Given the description of an element on the screen output the (x, y) to click on. 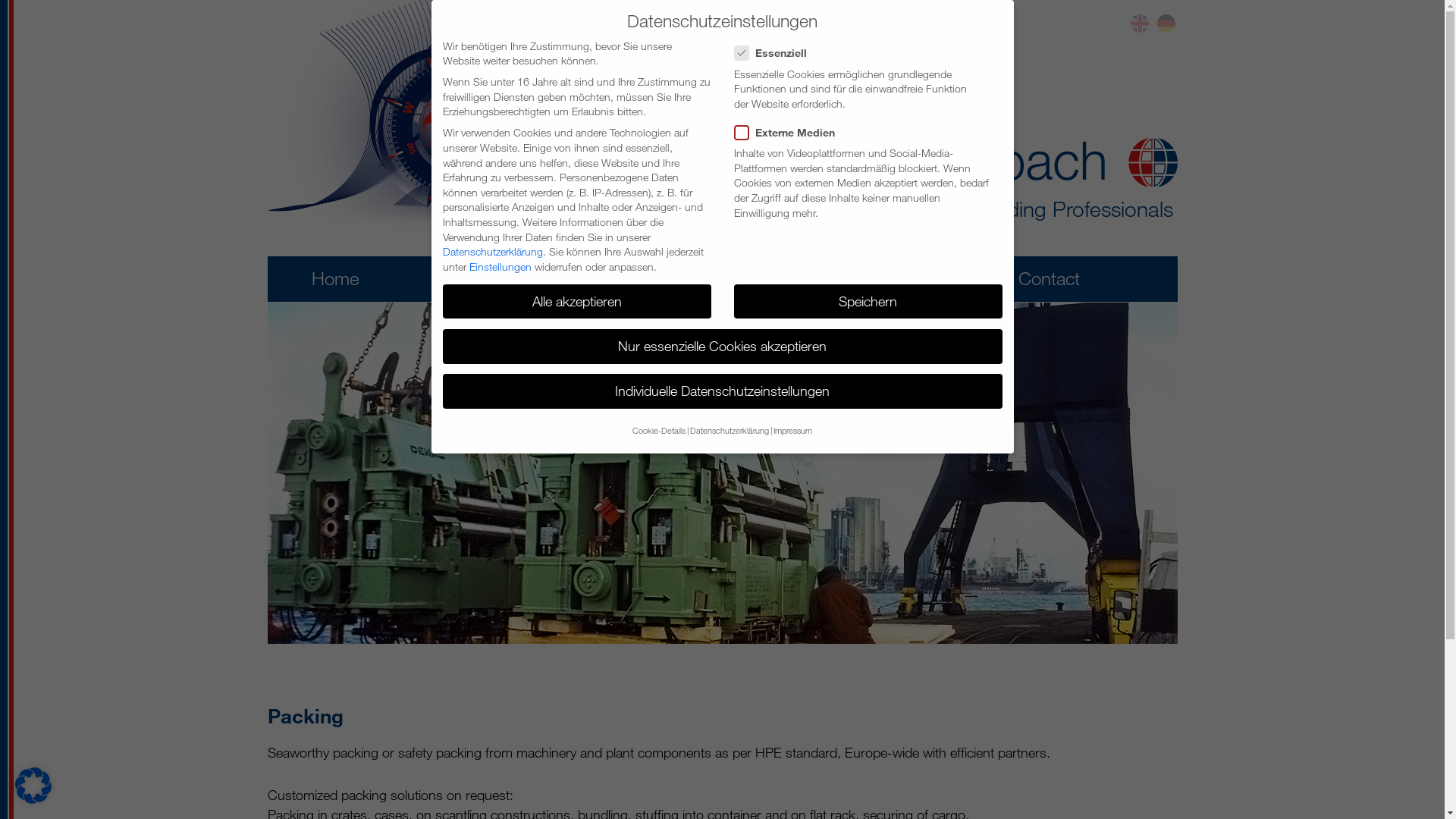
Contact Element type: text (1047, 277)
Impressum Element type: text (792, 430)
Cookie-Details Element type: text (658, 430)
Alle akzeptieren Element type: text (576, 301)
Home Element type: text (333, 277)
Service Element type: text (774, 277)
Einstellungen Element type: text (499, 266)
c.dasbach Transportkantoor BVBA Element type: hover (1024, 181)
Individuelle Datenschutzeinstellungen Element type: text (722, 390)
Nur essenzielle Cookies akzeptieren Element type: text (722, 346)
Belgisch Element type: hover (1139, 23)
News Element type: text (634, 277)
Speichern Element type: text (868, 301)
FAQ Element type: text (909, 277)
About Us Element type: text (484, 277)
Deutsch Element type: hover (1165, 23)
